Given the description of an element on the screen output the (x, y) to click on. 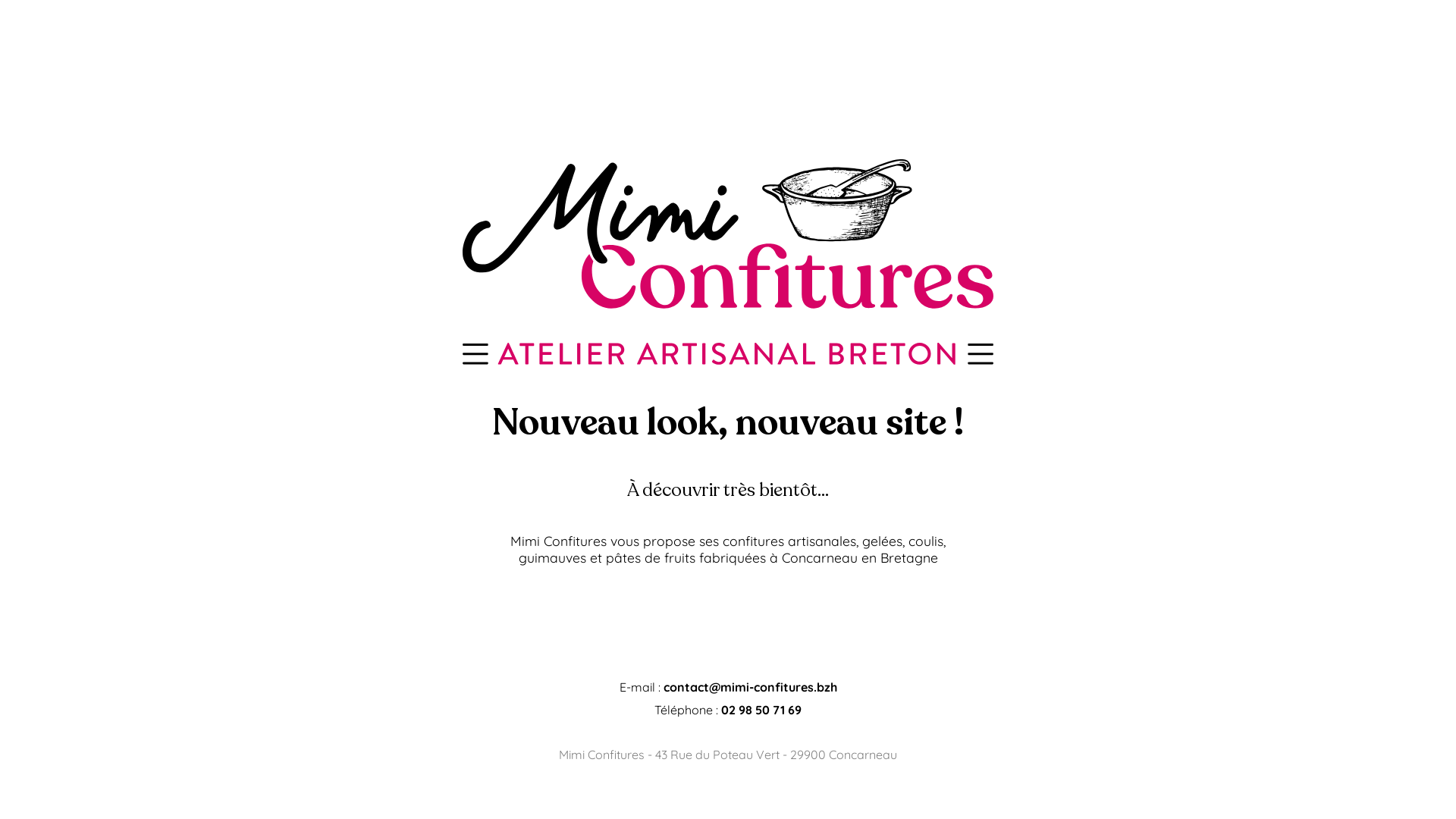
contact@mimi-confitures.bzh Element type: text (749, 686)
